Given the description of an element on the screen output the (x, y) to click on. 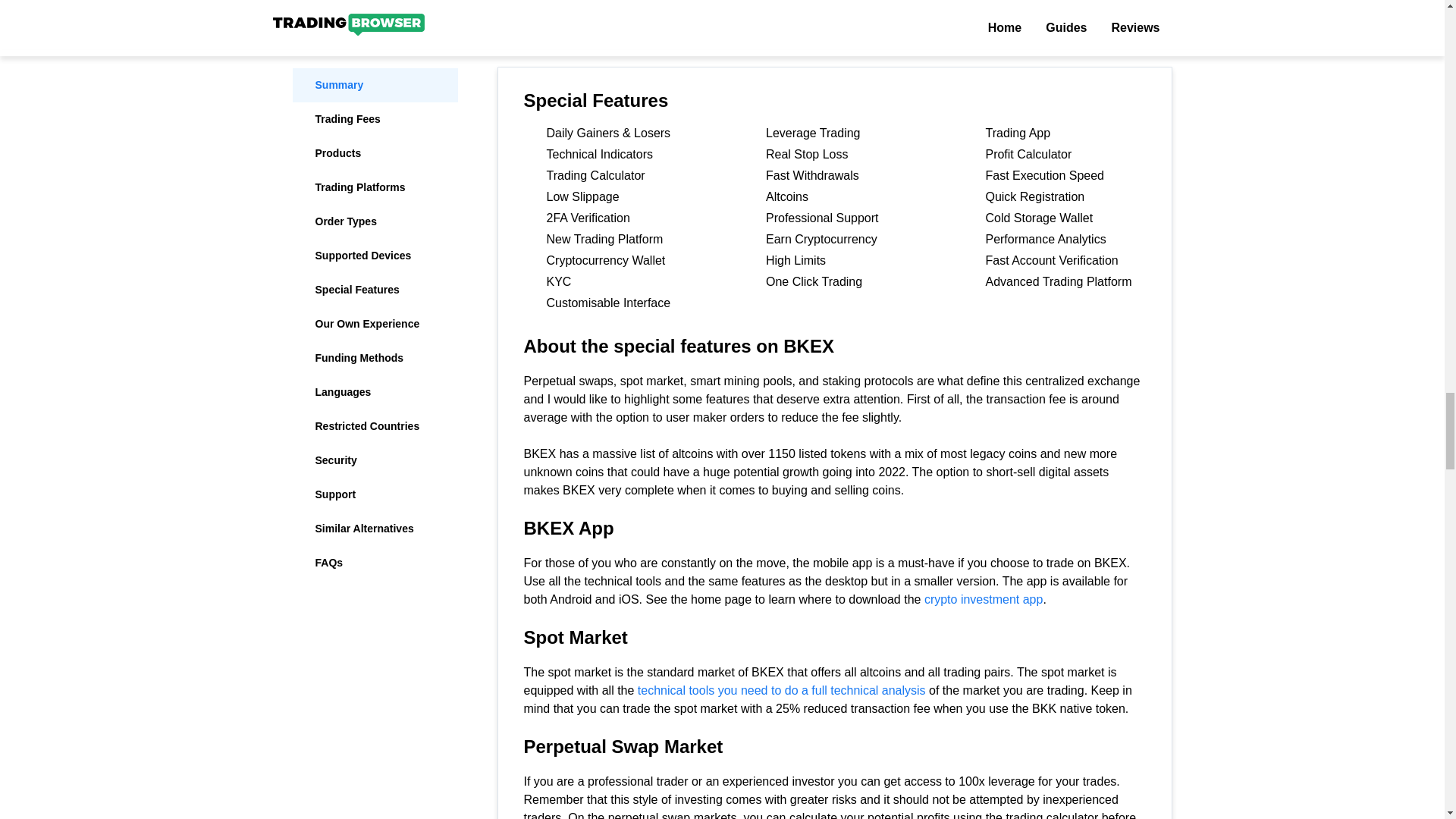
technical tools you need to do a full technical analysis (834, 15)
crypto investment app (781, 689)
